Given the description of an element on the screen output the (x, y) to click on. 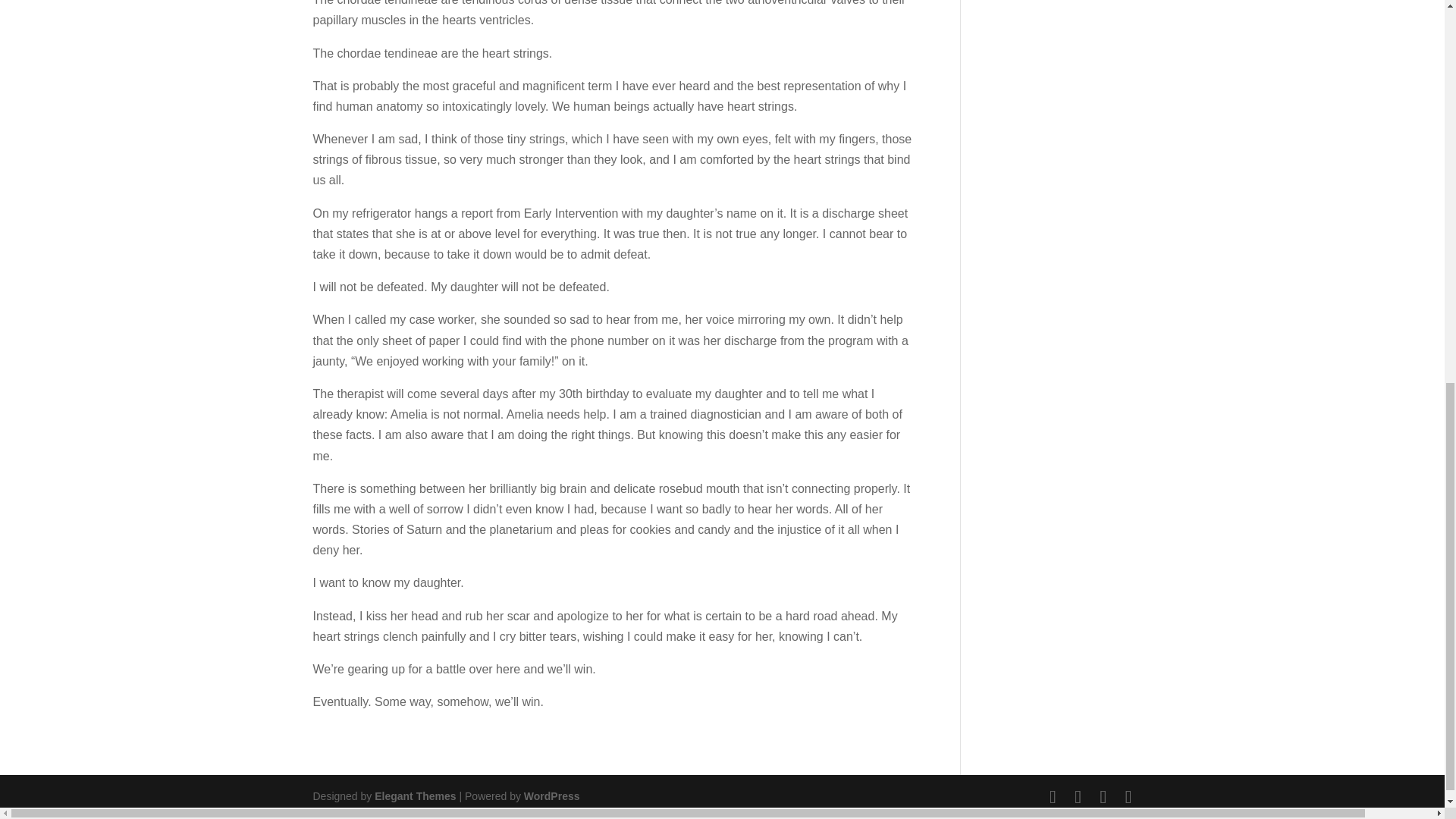
Premium WordPress Themes (414, 796)
